Given the description of an element on the screen output the (x, y) to click on. 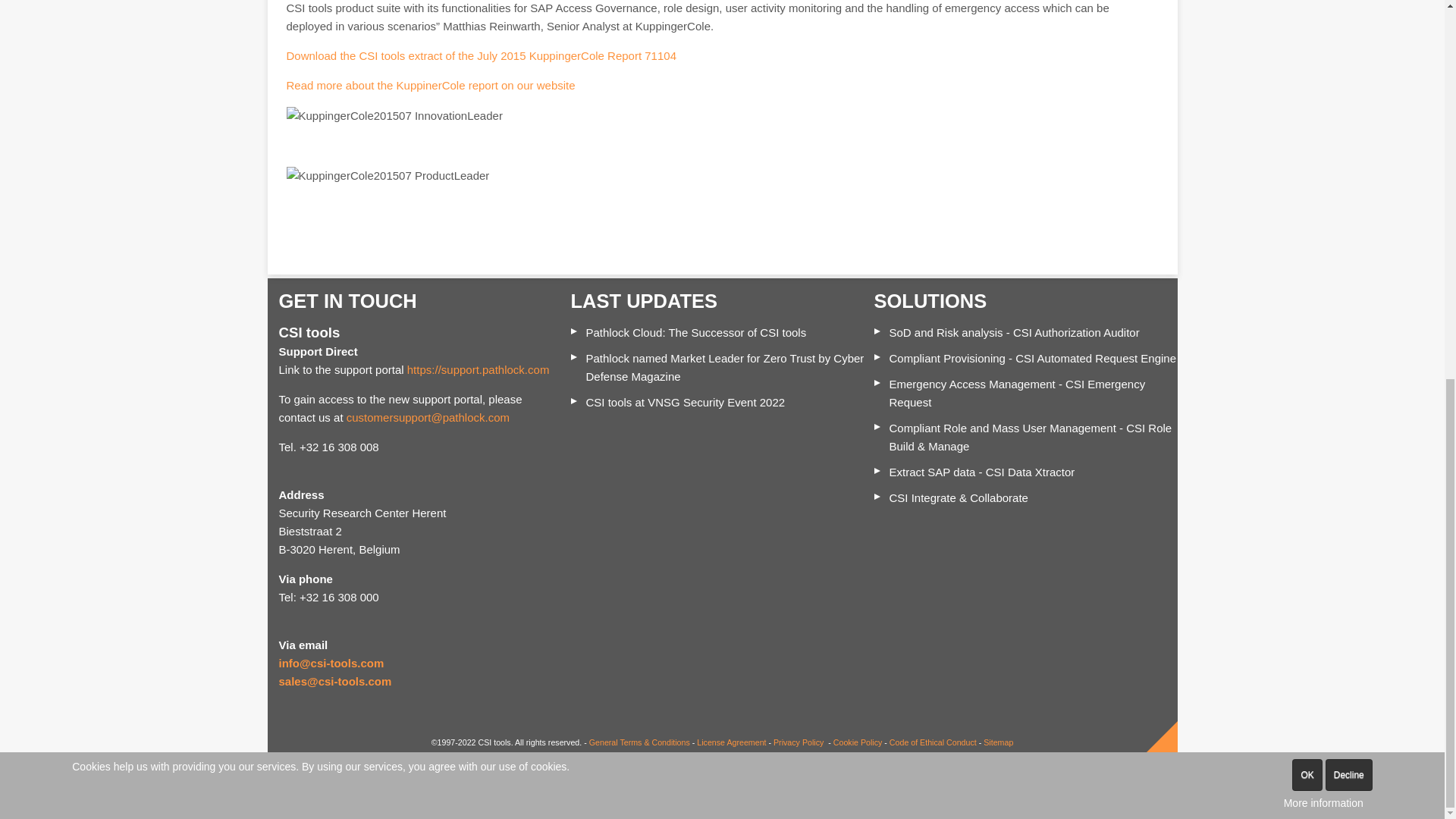
CSI DX (981, 472)
